Given the description of an element on the screen output the (x, y) to click on. 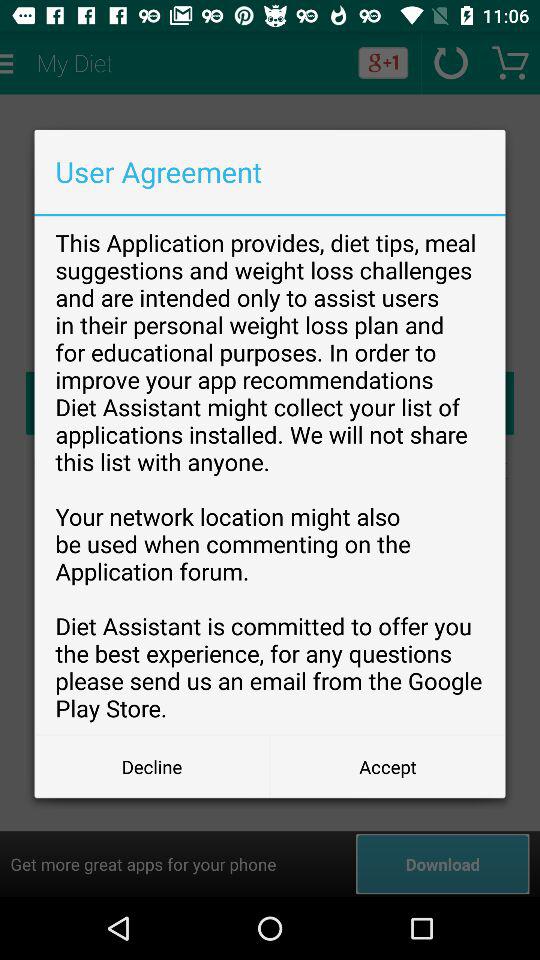
scroll until accept (387, 766)
